Given the description of an element on the screen output the (x, y) to click on. 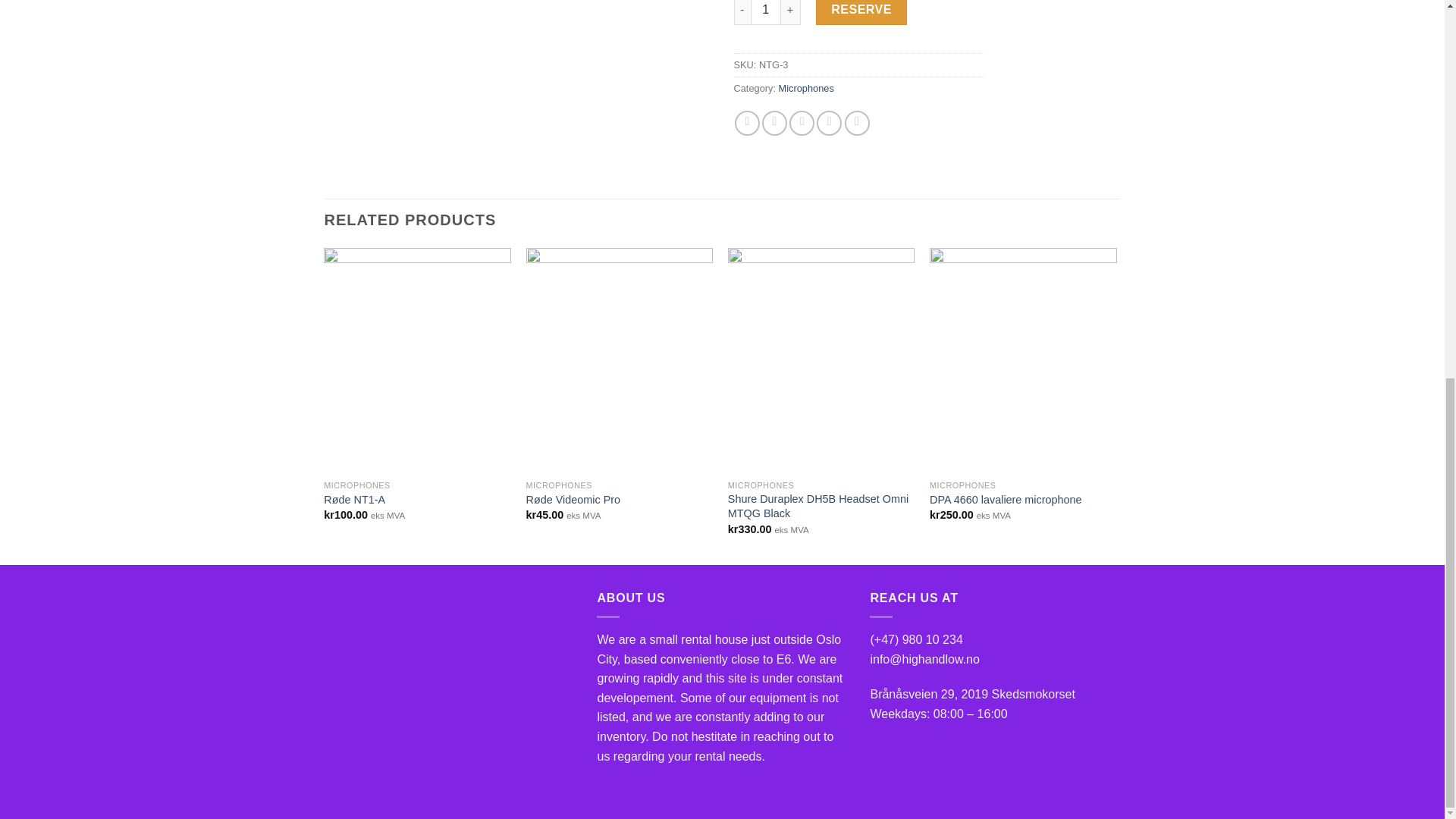
Email to a Friend (801, 122)
Share on Twitter (774, 122)
Pin on Pinterest (828, 122)
Share on Facebook (747, 122)
1 (765, 12)
